Given the description of an element on the screen output the (x, y) to click on. 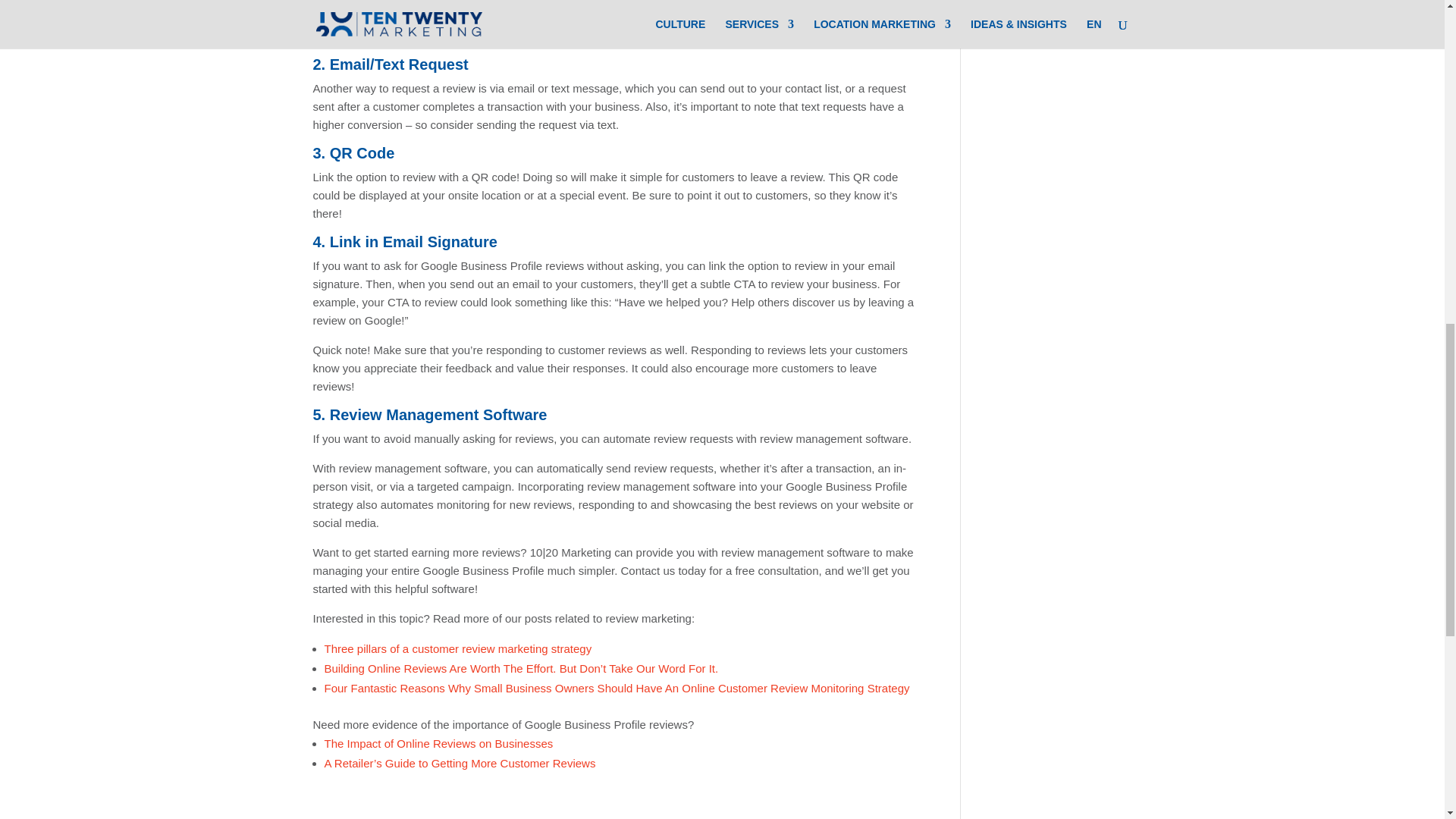
The Impact of Online Reviews on Businesses (438, 743)
Three pillars of a customer review marketing strategy (458, 648)
